Given the description of an element on the screen output the (x, y) to click on. 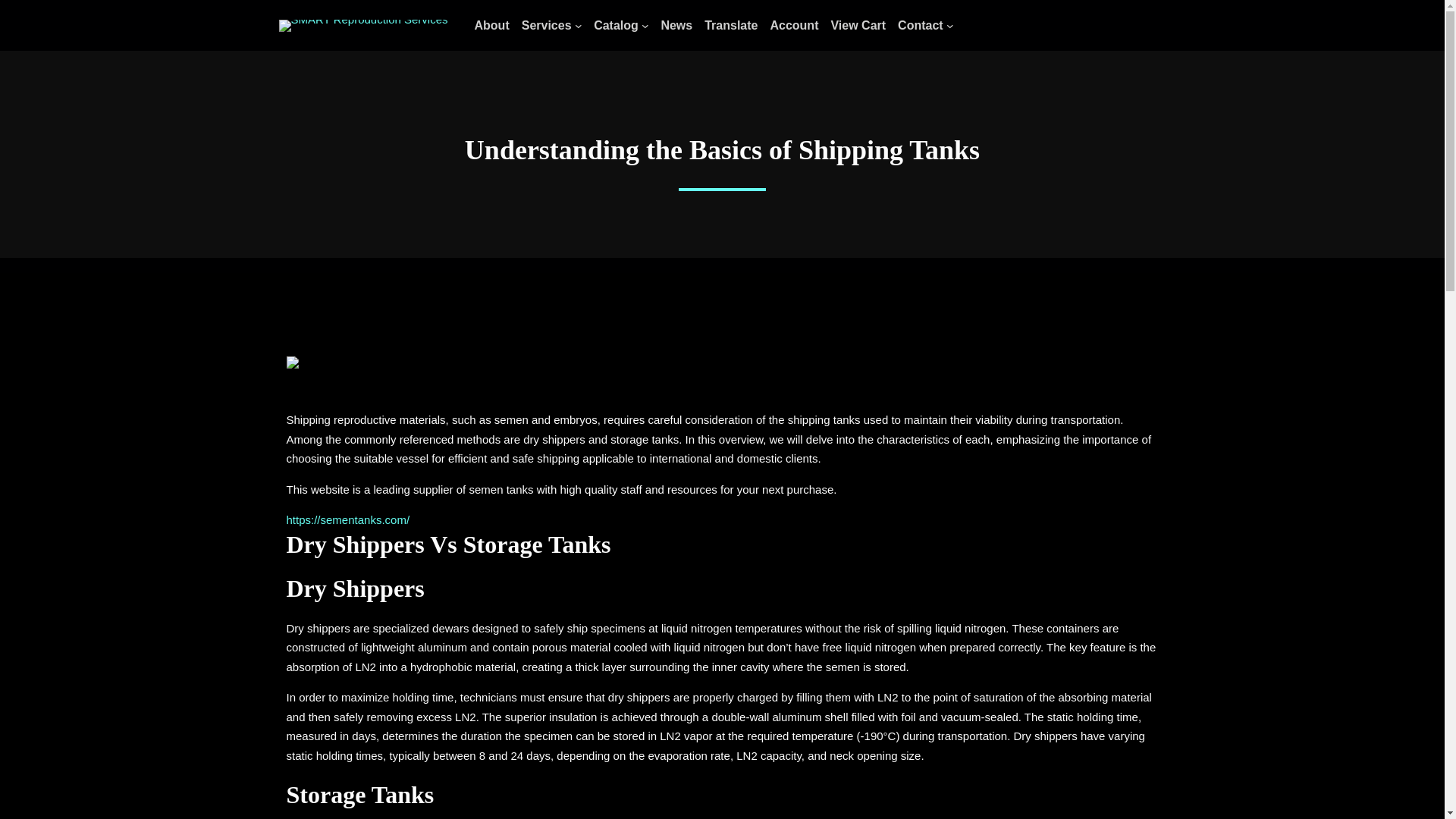
View Cart (857, 25)
Contact (920, 25)
Account (794, 25)
News (677, 25)
Catalog (616, 25)
About (491, 25)
Translate (730, 25)
Services (546, 25)
